Given the description of an element on the screen output the (x, y) to click on. 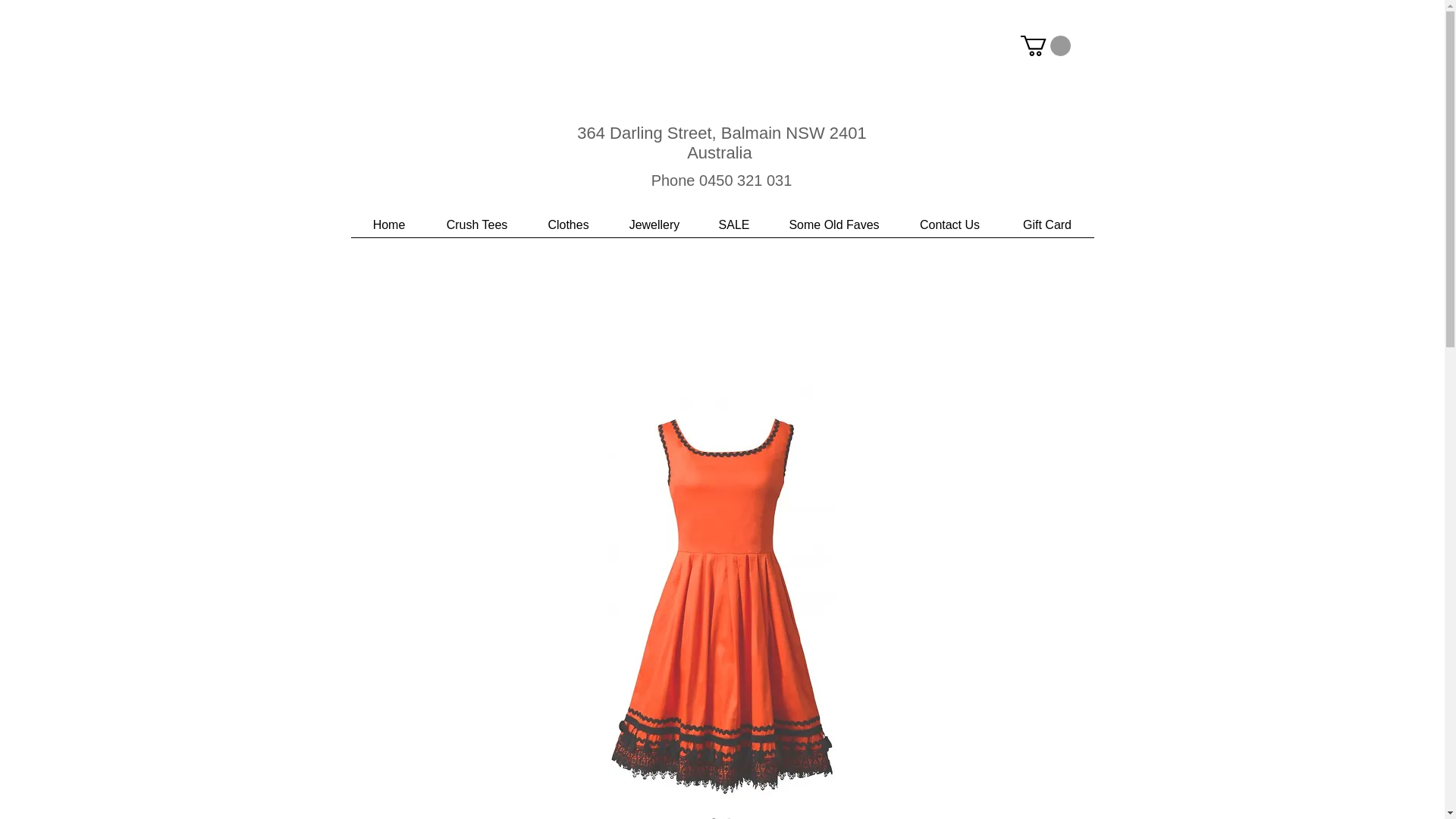
Gift Card (1047, 229)
SALE (734, 229)
Phone 0450 321 031 (720, 180)
Clothes (567, 229)
Contact Us (950, 229)
Crush Tees (477, 229)
Jewellery (654, 229)
Home (388, 229)
Some Old Faves (833, 229)
